Given the description of an element on the screen output the (x, y) to click on. 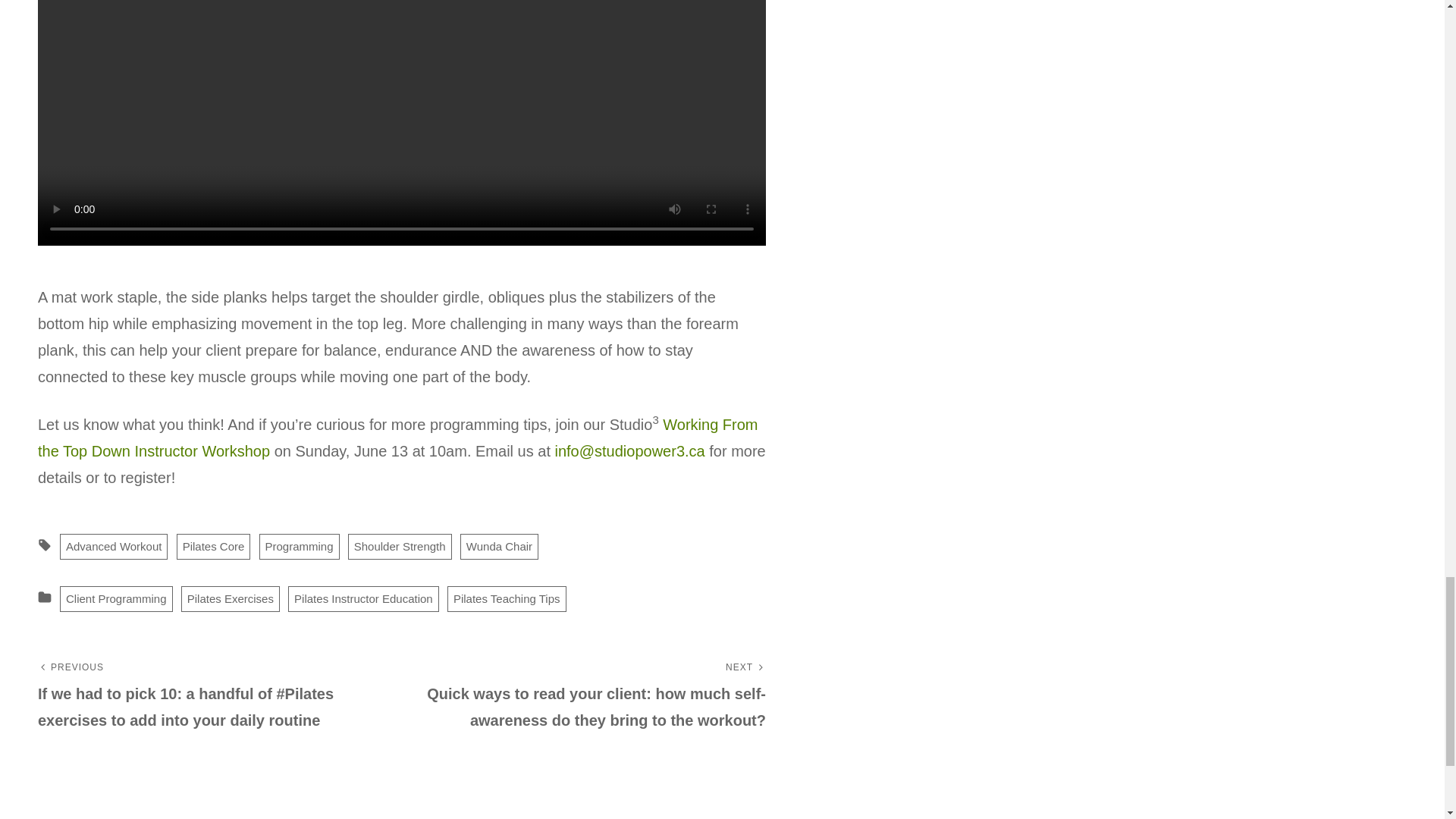
Advanced Workout (113, 546)
Wunda Chair (499, 546)
Programming (299, 546)
Pilates Instructor Education (363, 598)
Pilates Teaching Tips (506, 598)
Pilates Core (213, 546)
Working From the Top Down Instructor Workshop (397, 437)
Shoulder Strength (399, 546)
Client Programming (116, 598)
Pilates Exercises (229, 598)
